Given the description of an element on the screen output the (x, y) to click on. 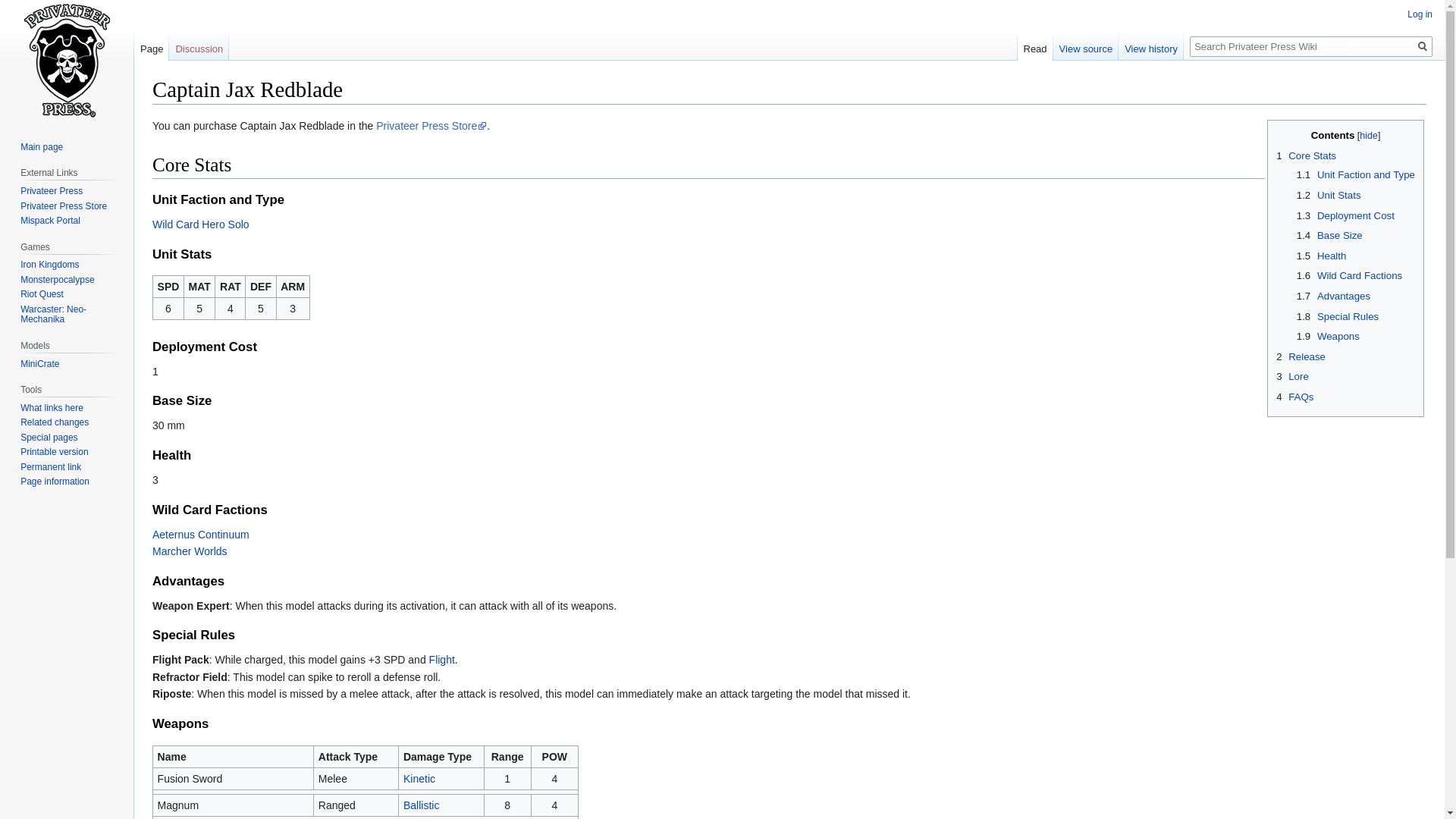
Kinetic (419, 778)
1.4 Base Size (1329, 235)
Solo (238, 224)
1.8 Special Rules (1337, 316)
Marcher Worlds (189, 551)
1 Core Stats (1306, 155)
1.3 Deployment Cost (1345, 215)
Flight (441, 659)
Privateer Press Store (430, 125)
Wild Card (175, 224)
1.1 Unit Faction and Type (1355, 174)
Go (1422, 46)
Category:Ballistic Damage (421, 805)
1.7 Advantages (1333, 296)
WNM Flight (441, 659)
